Given the description of an element on the screen output the (x, y) to click on. 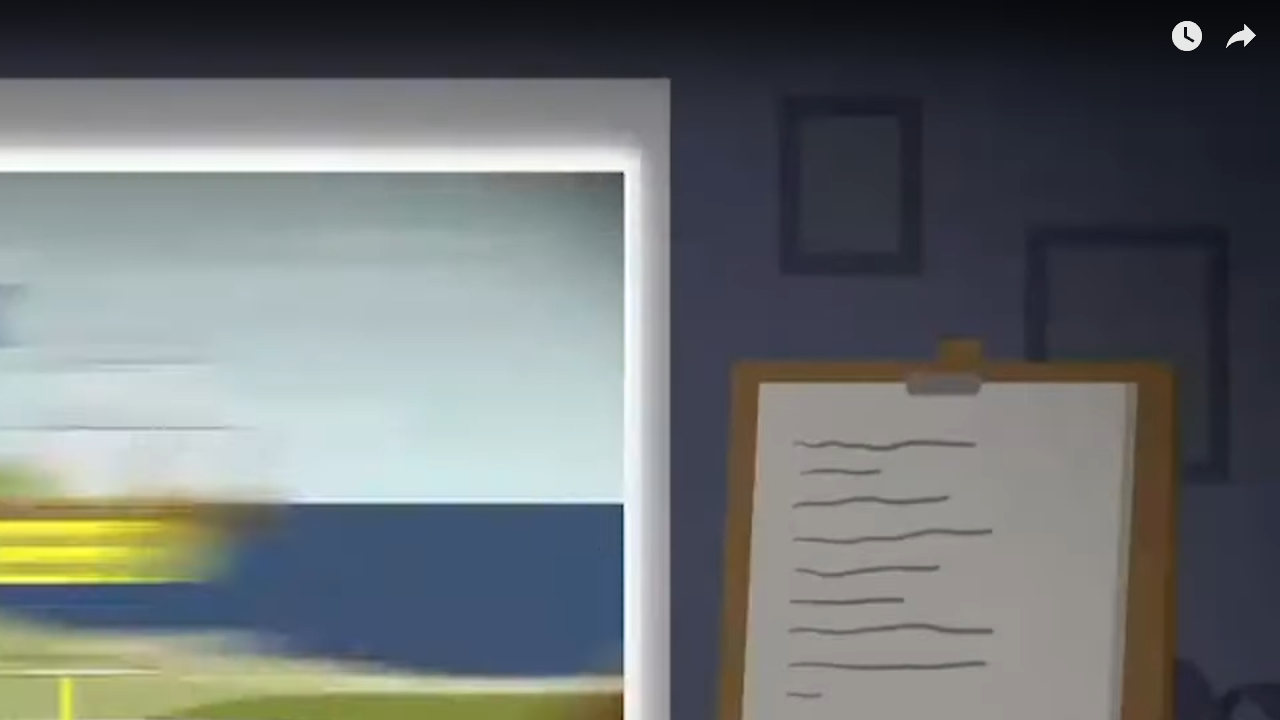
Share (1240, 31)
Watch later (1186, 31)
